Given the description of an element on the screen output the (x, y) to click on. 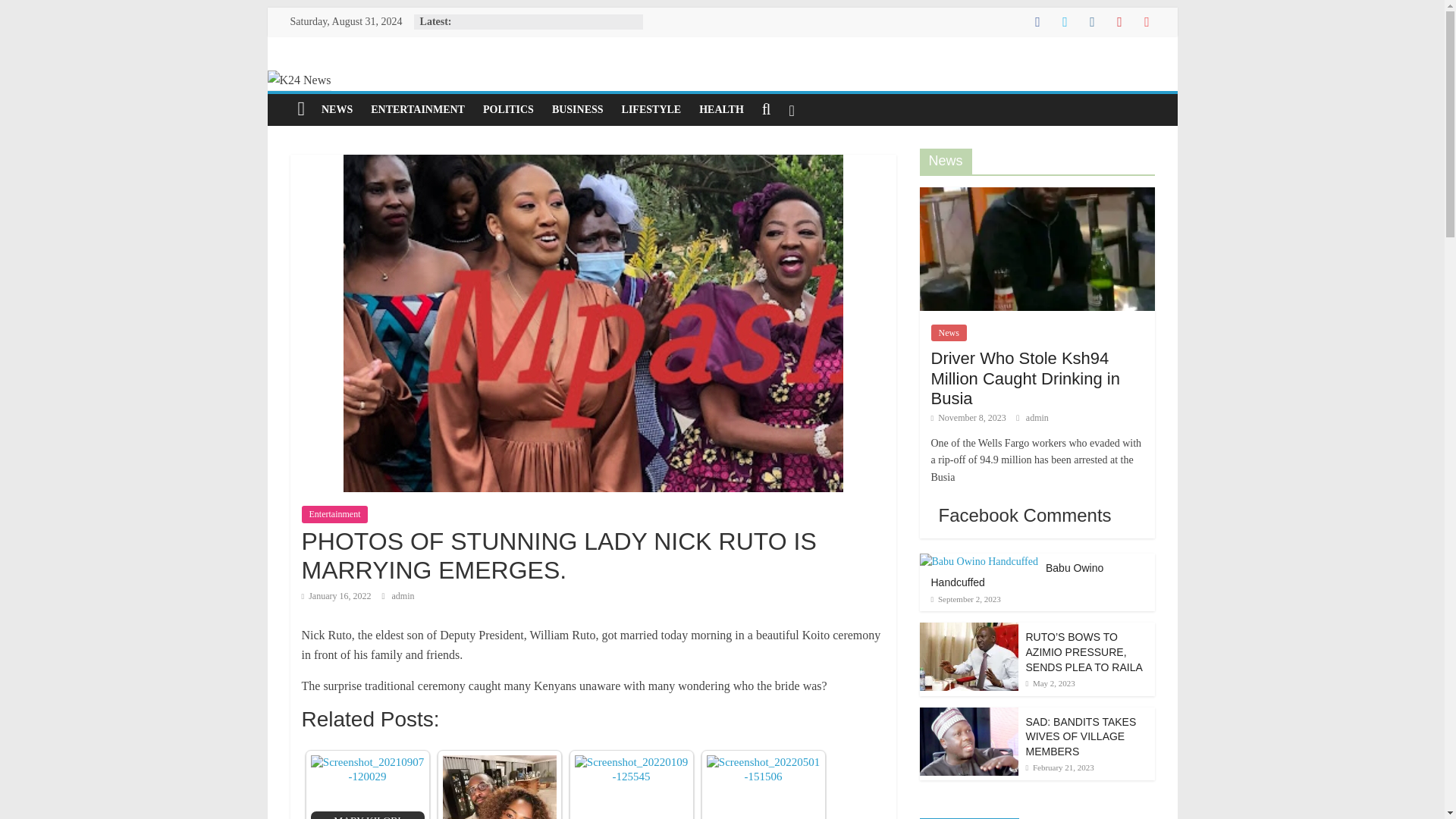
4:33 am (336, 595)
NEWS (337, 110)
admin (402, 595)
BUSINESS (577, 110)
LUPITA NYONG'O STEAMY VIDEO EMERGES ONLINE (763, 787)
Entertainment (334, 514)
BETTY KYALLO NO LONGER NICK NDEDA'S GIRLFRIEND (499, 787)
admin (402, 595)
ENTERTAINMENT (417, 110)
